Given the description of an element on the screen output the (x, y) to click on. 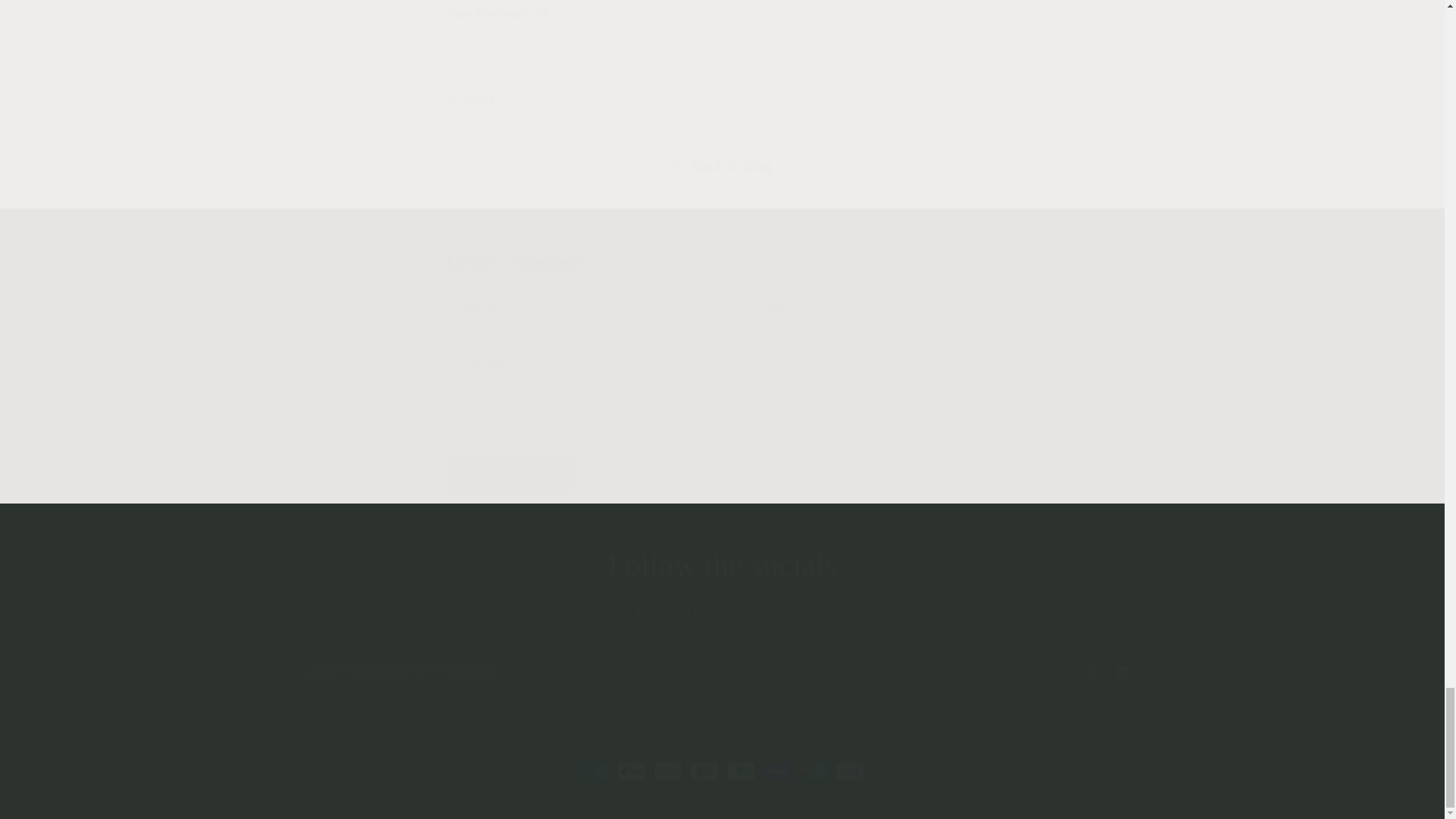
Pinterest (1121, 672)
Post comment (510, 473)
Instagram (1088, 672)
Share (721, 99)
from the heart (370, 798)
Follow the socials (721, 565)
Powered by Shopify (444, 798)
Post comment (721, 672)
